Given the description of an element on the screen output the (x, y) to click on. 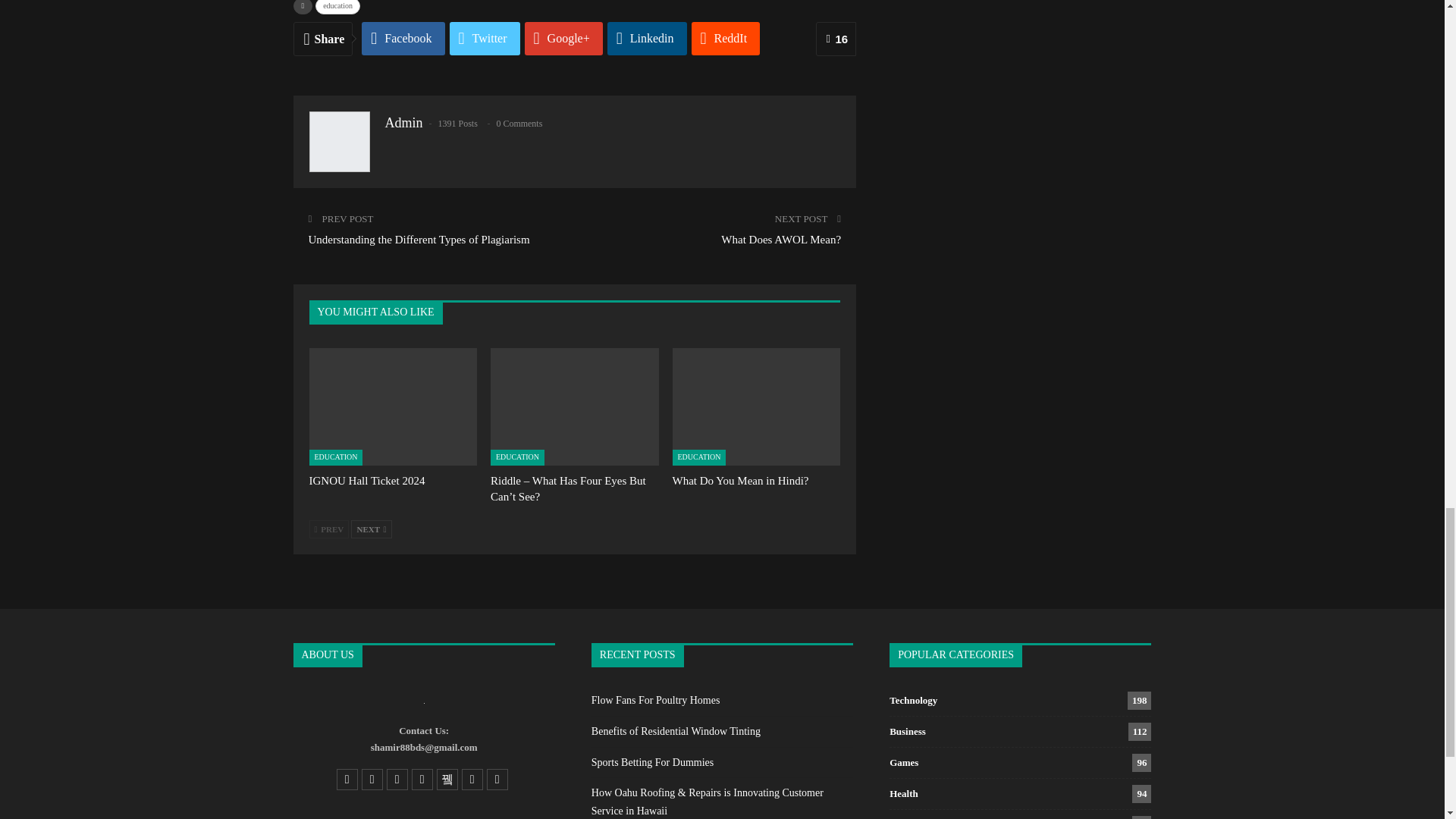
What Do You Mean in Hindi? (756, 407)
IGNOU Hall Ticket 2024 (392, 407)
What Do You Mean in Hindi? (740, 480)
Next (370, 529)
Previous (328, 529)
IGNOU Hall Ticket 2024 (366, 480)
